Given the description of an element on the screen output the (x, y) to click on. 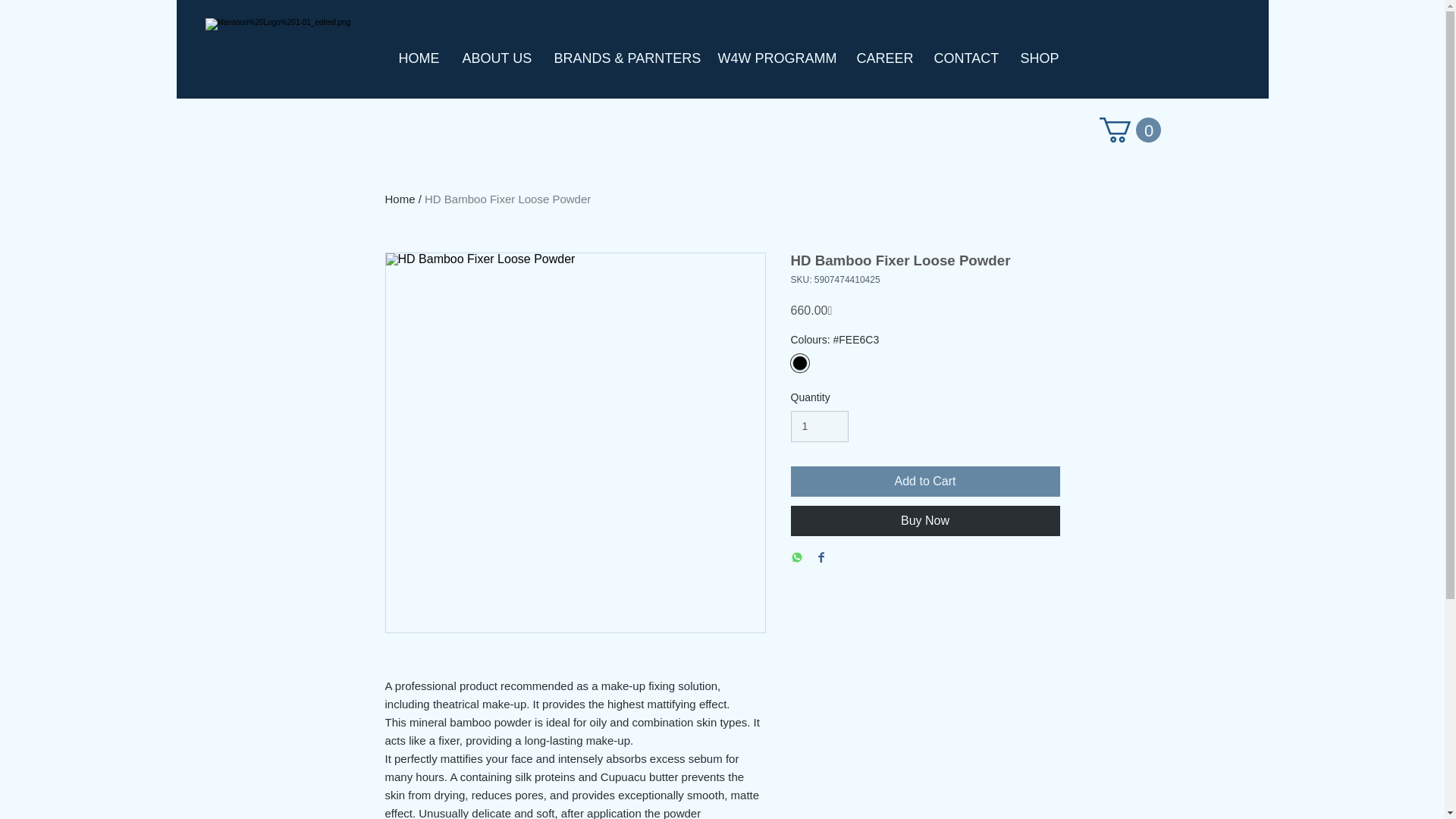
0 (1129, 129)
HD Bamboo Fixer Loose Powder (508, 198)
Buy Now (924, 521)
1 (818, 426)
W4W PROGRAMM (774, 57)
HOME (418, 57)
0 (1129, 129)
ABOUT US (495, 57)
CONTACT (965, 57)
Add to Cart (924, 481)
